Given the description of an element on the screen output the (x, y) to click on. 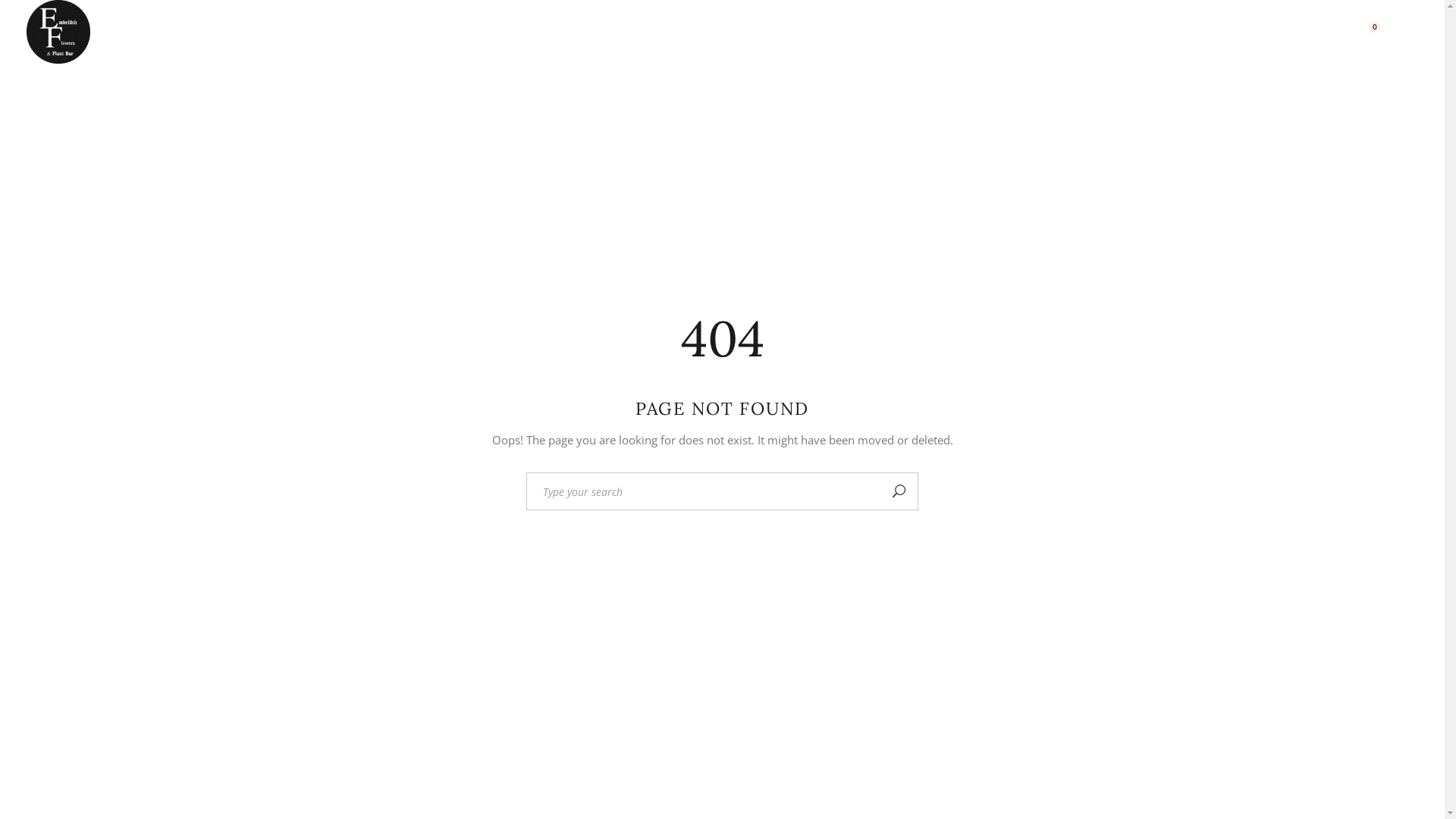
0 Element type: text (1366, 31)
PLANTS Element type: text (624, 31)
SHOP Element type: text (1204, 31)
OUR STORY Element type: text (1105, 31)
ROMANCE Element type: text (523, 31)
FRESH FLOWERS Element type: text (290, 31)
DELIVERY & PAYMENT Element type: text (961, 31)
PRESERVED / EVERLASTING Element type: text (773, 31)
Search for: Element type: hover (703, 491)
NEW BABY Element type: text (416, 31)
HOME Element type: text (177, 31)
SAY HELLO Element type: text (1300, 31)
